Given the description of an element on the screen output the (x, y) to click on. 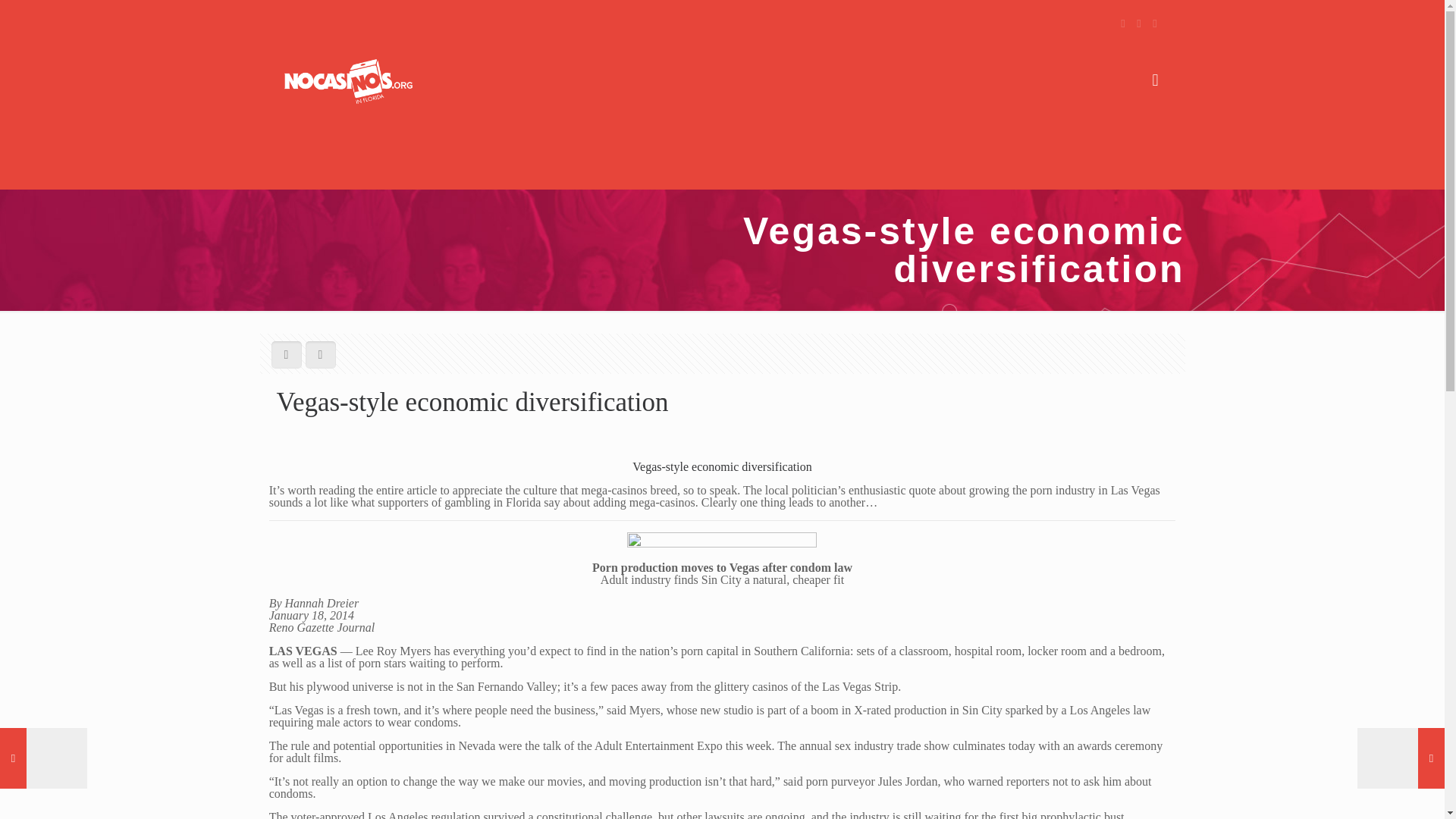
YouTube (1155, 23)
Facebook (1123, 23)
No Casinos (347, 79)
